Given the description of an element on the screen output the (x, y) to click on. 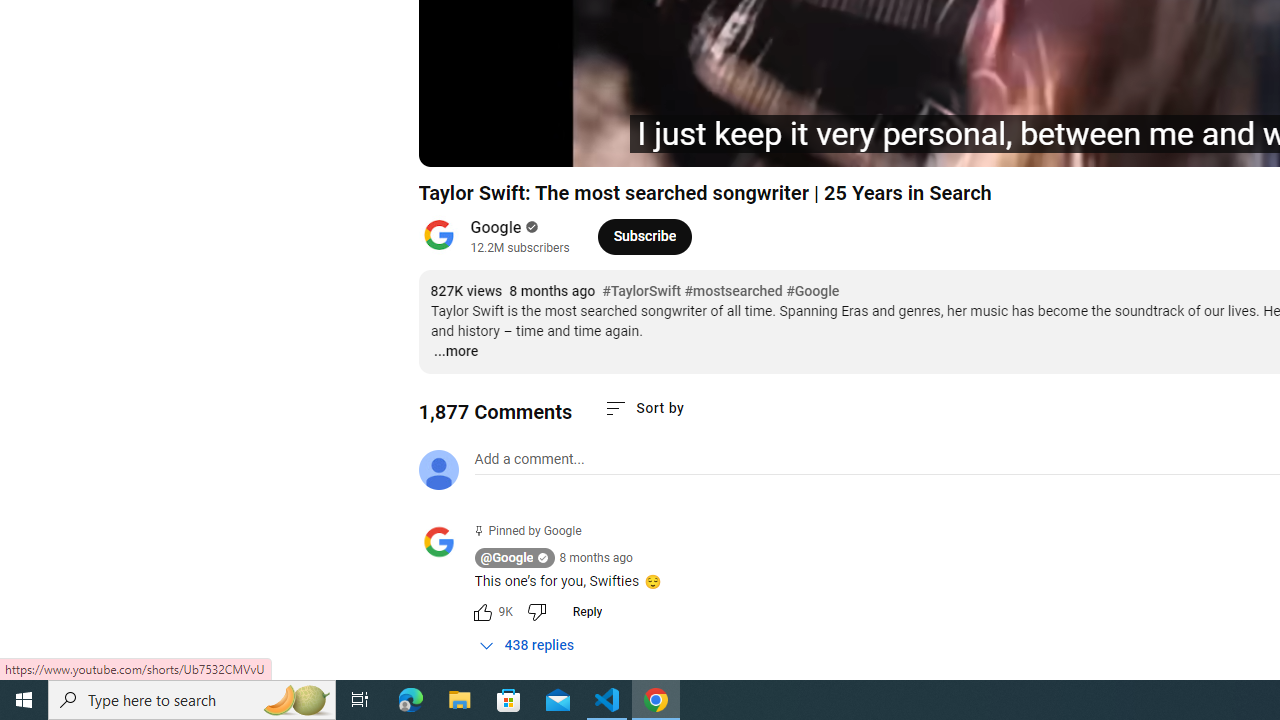
#mostsearched (733, 291)
Mute (m) (548, 142)
438 replies (526, 645)
Like this comment along with 9K other people (482, 611)
